Given the description of an element on the screen output the (x, y) to click on. 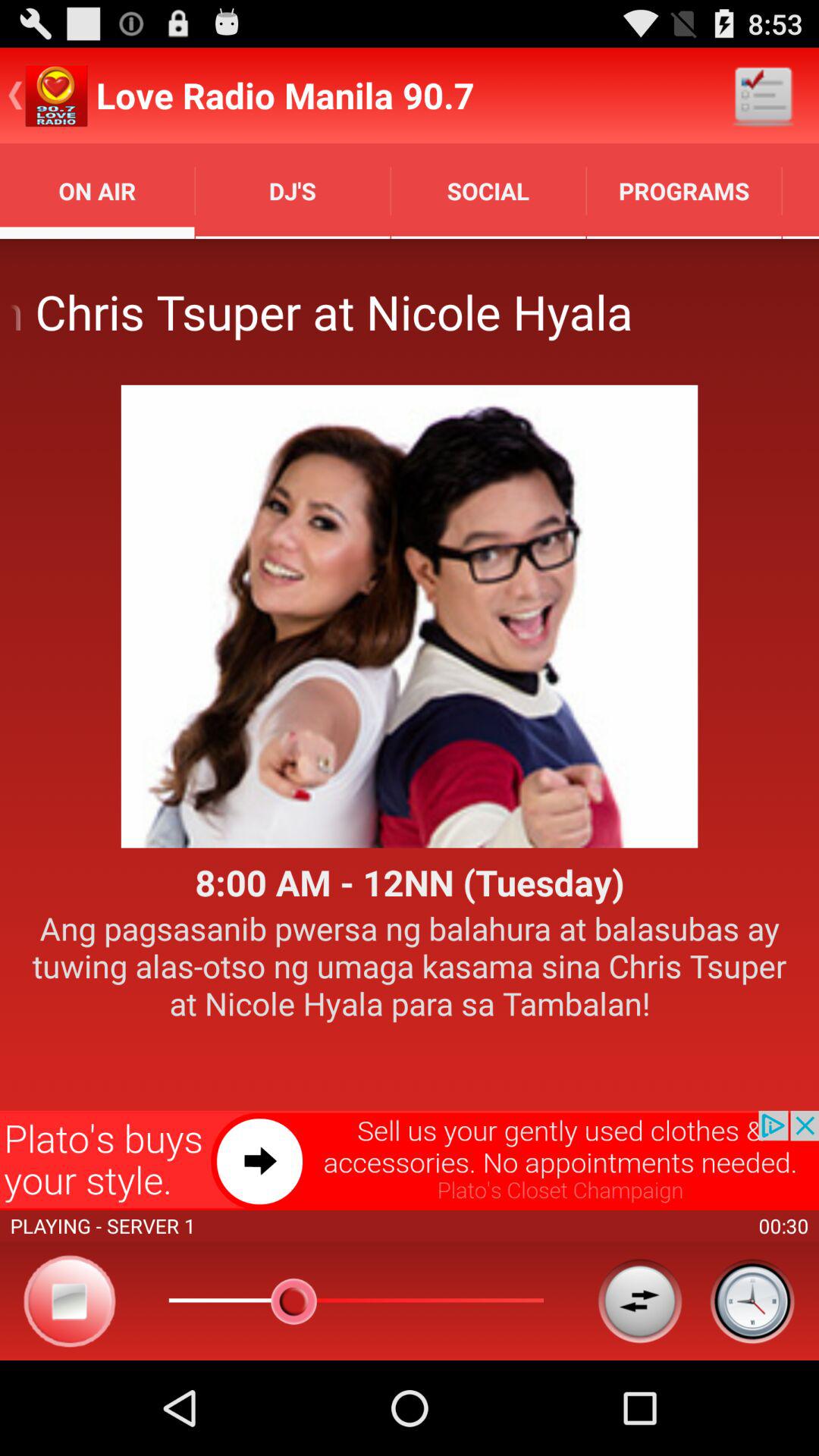
select options (639, 1300)
